Given the description of an element on the screen output the (x, y) to click on. 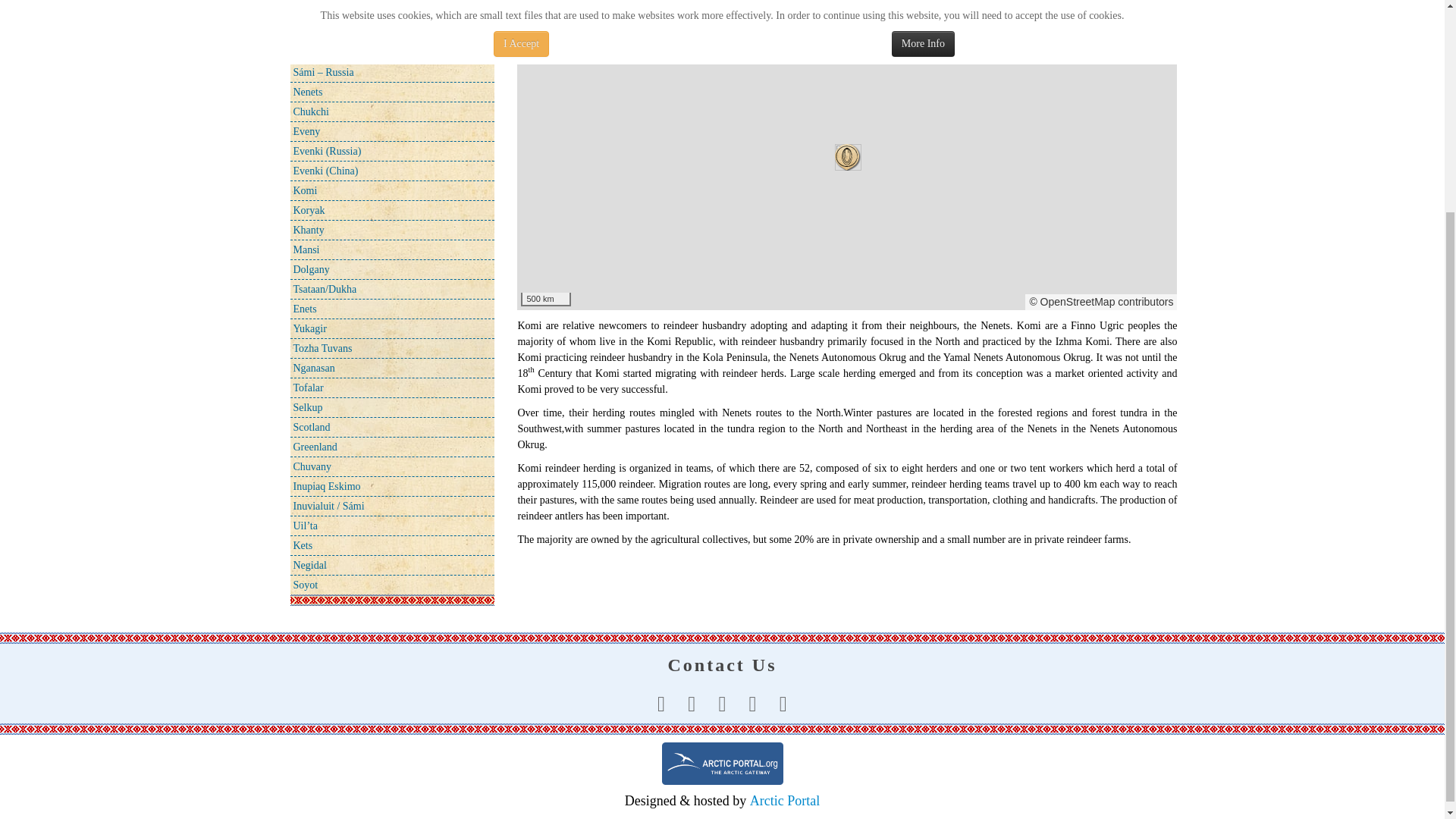
Komi (392, 189)
Eveny (392, 130)
Chukchi (392, 110)
Koryak (392, 209)
Zoom in (536, 26)
Nenets (392, 91)
Zoom out (536, 50)
Arctic Portal (784, 800)
Arctic Portal (722, 762)
